Given the description of an element on the screen output the (x, y) to click on. 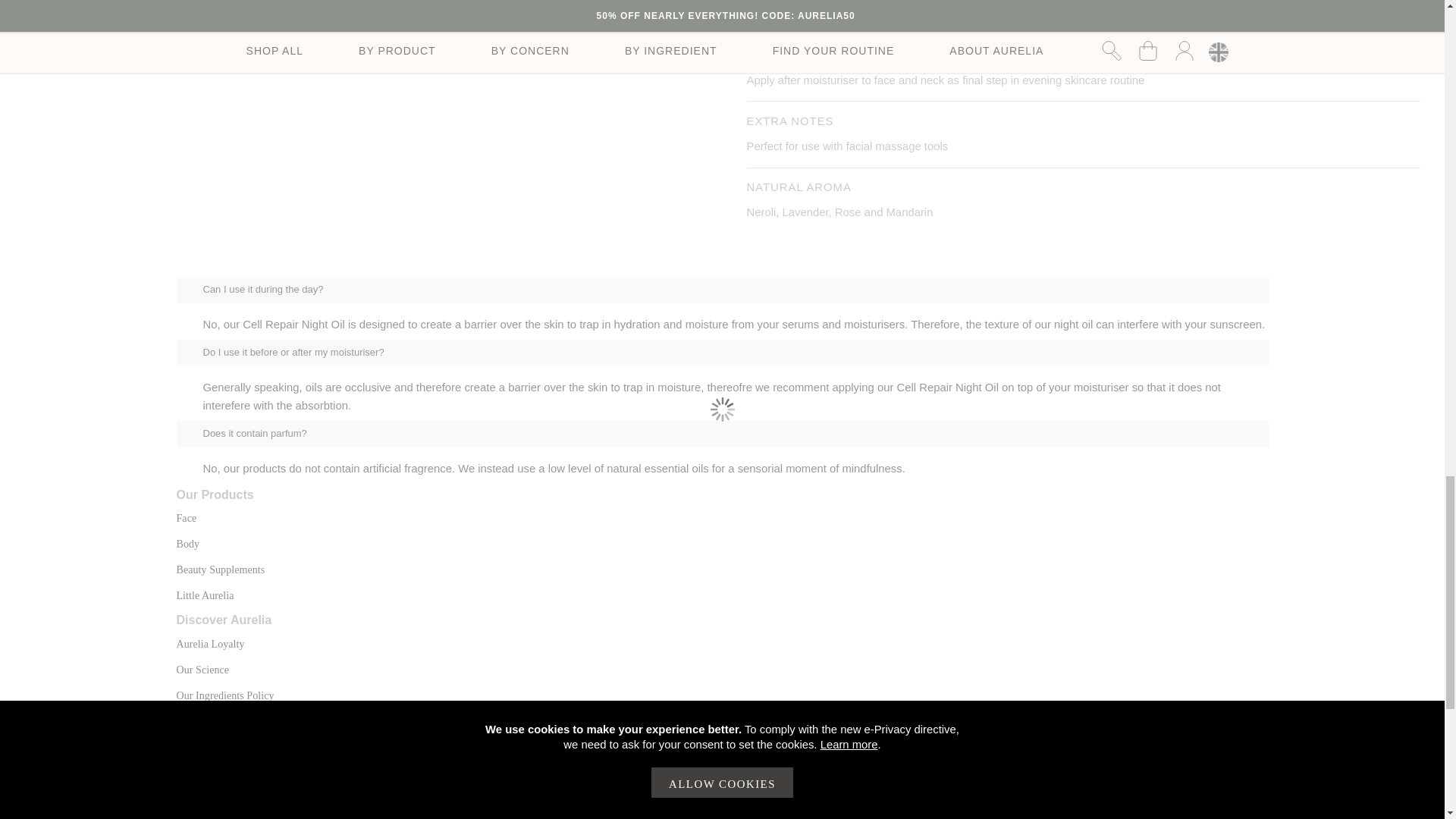
Gift (220, 569)
Aurelia Loyalty (210, 644)
What We Stand For (218, 721)
Out Ingredients Policy (224, 695)
subscription (205, 816)
Our Science (202, 669)
Body (187, 543)
Faq's (186, 768)
Face (186, 518)
Little aurelia (204, 595)
